Given the description of an element on the screen output the (x, y) to click on. 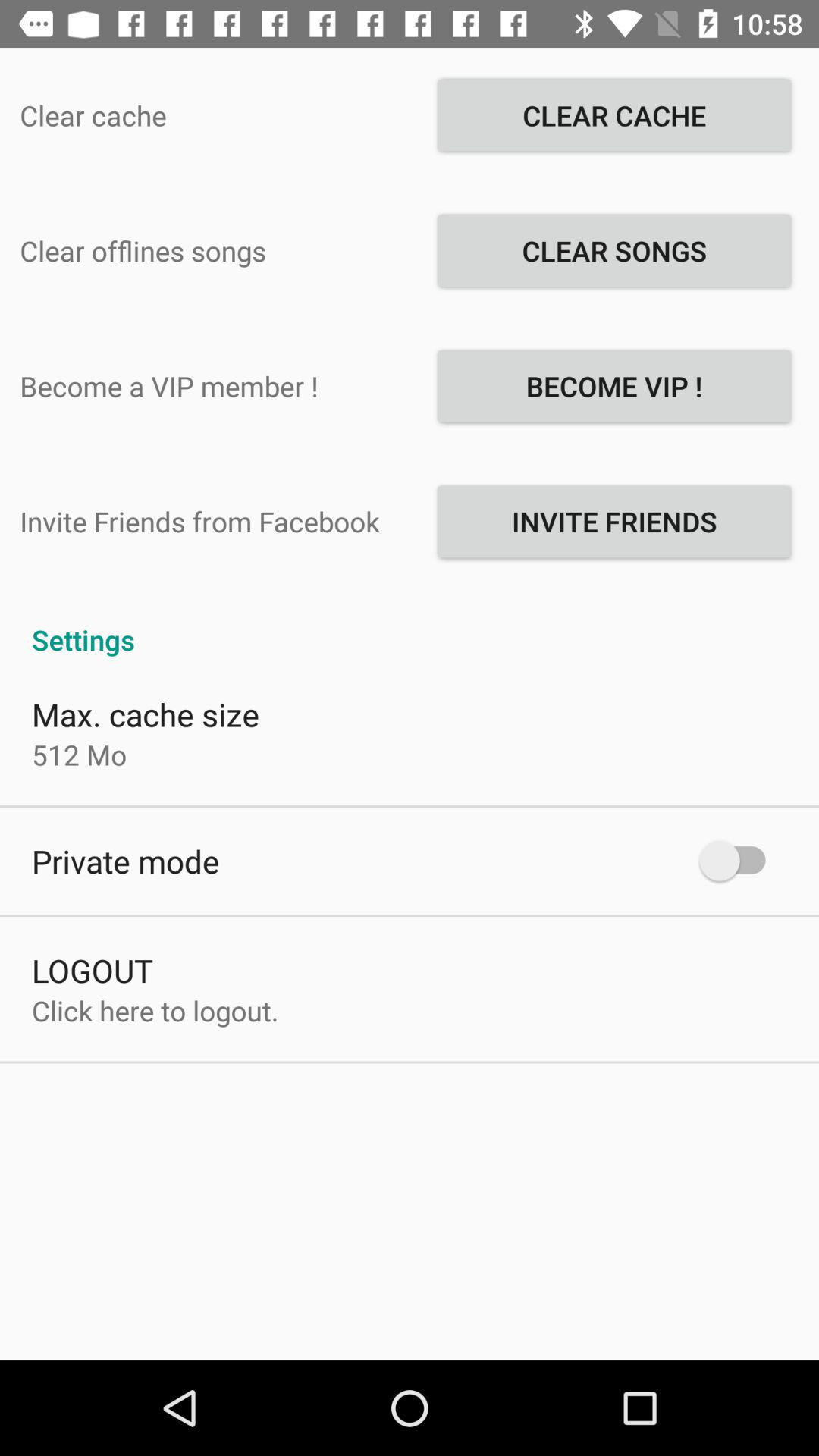
press app above the max. cache size icon (409, 623)
